Given the description of an element on the screen output the (x, y) to click on. 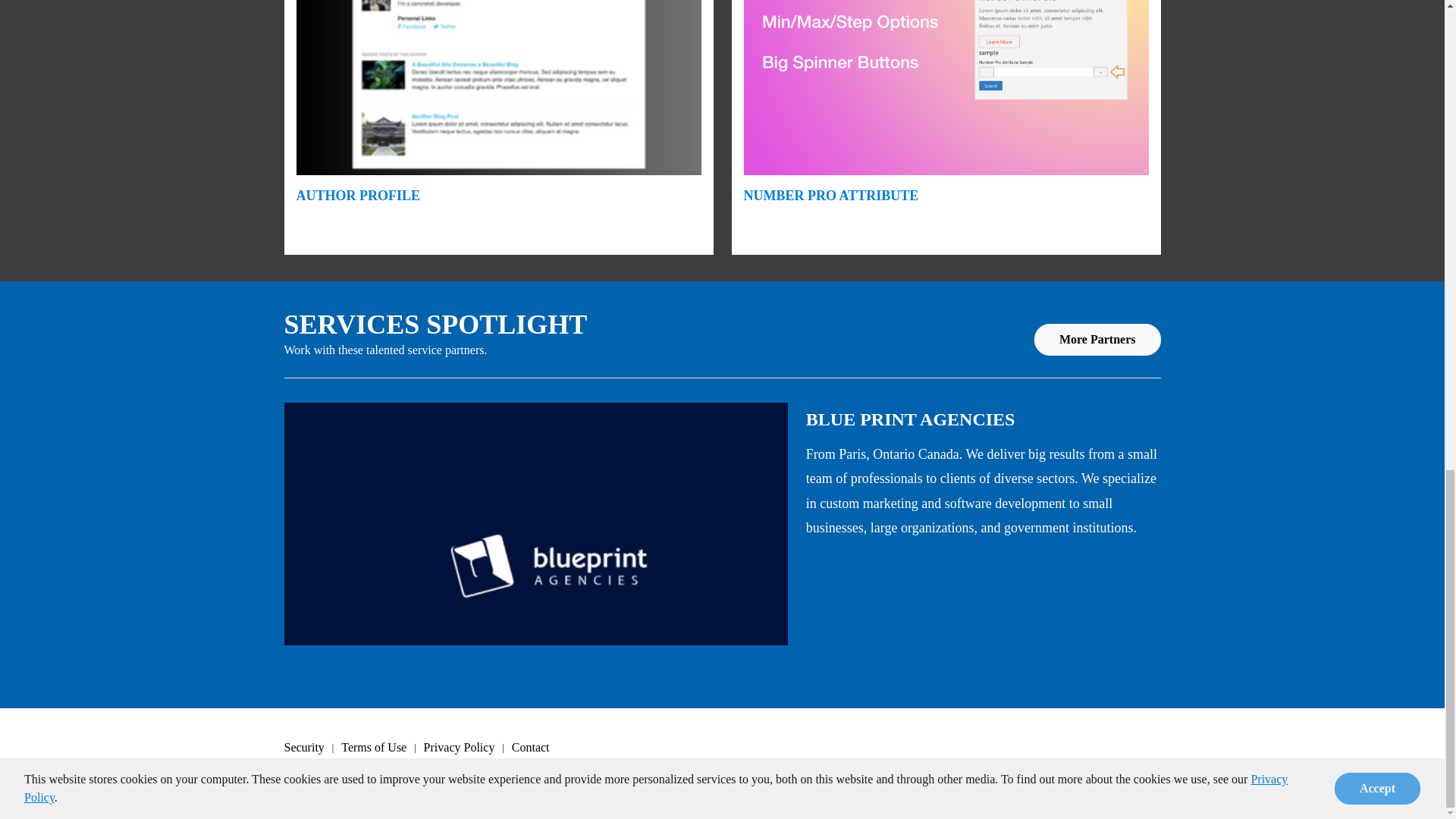
AUTHOR PROFILE (357, 195)
Terms of Use (381, 747)
Privacy Policy (467, 747)
NUMBER PRO ATTRIBUTE (830, 195)
Security (311, 747)
BLUE PRINT AGENCIES (910, 419)
Contact (538, 747)
More Partners (1096, 339)
